Given the description of an element on the screen output the (x, y) to click on. 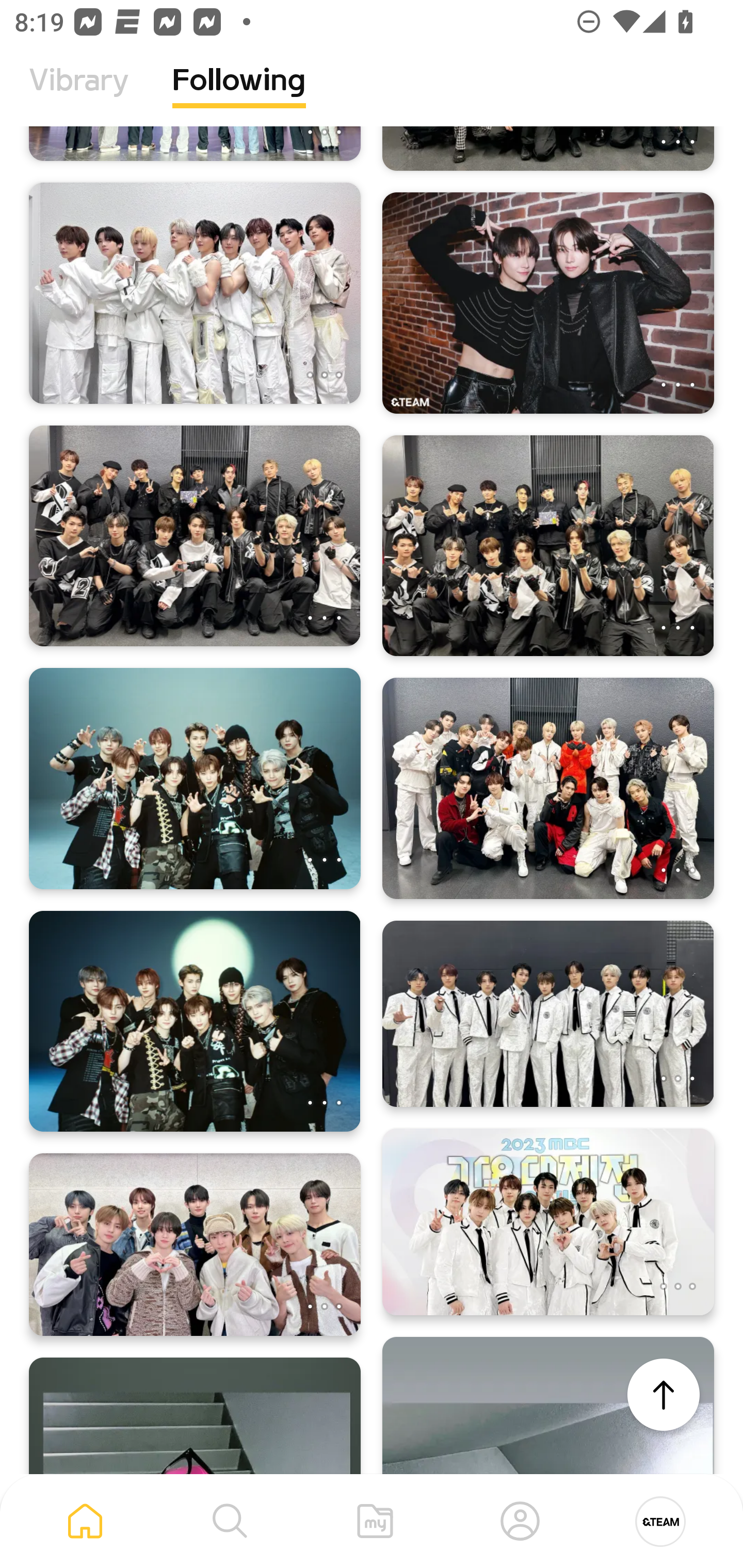
Vibrary (78, 95)
Following (239, 95)
